Given the description of an element on the screen output the (x, y) to click on. 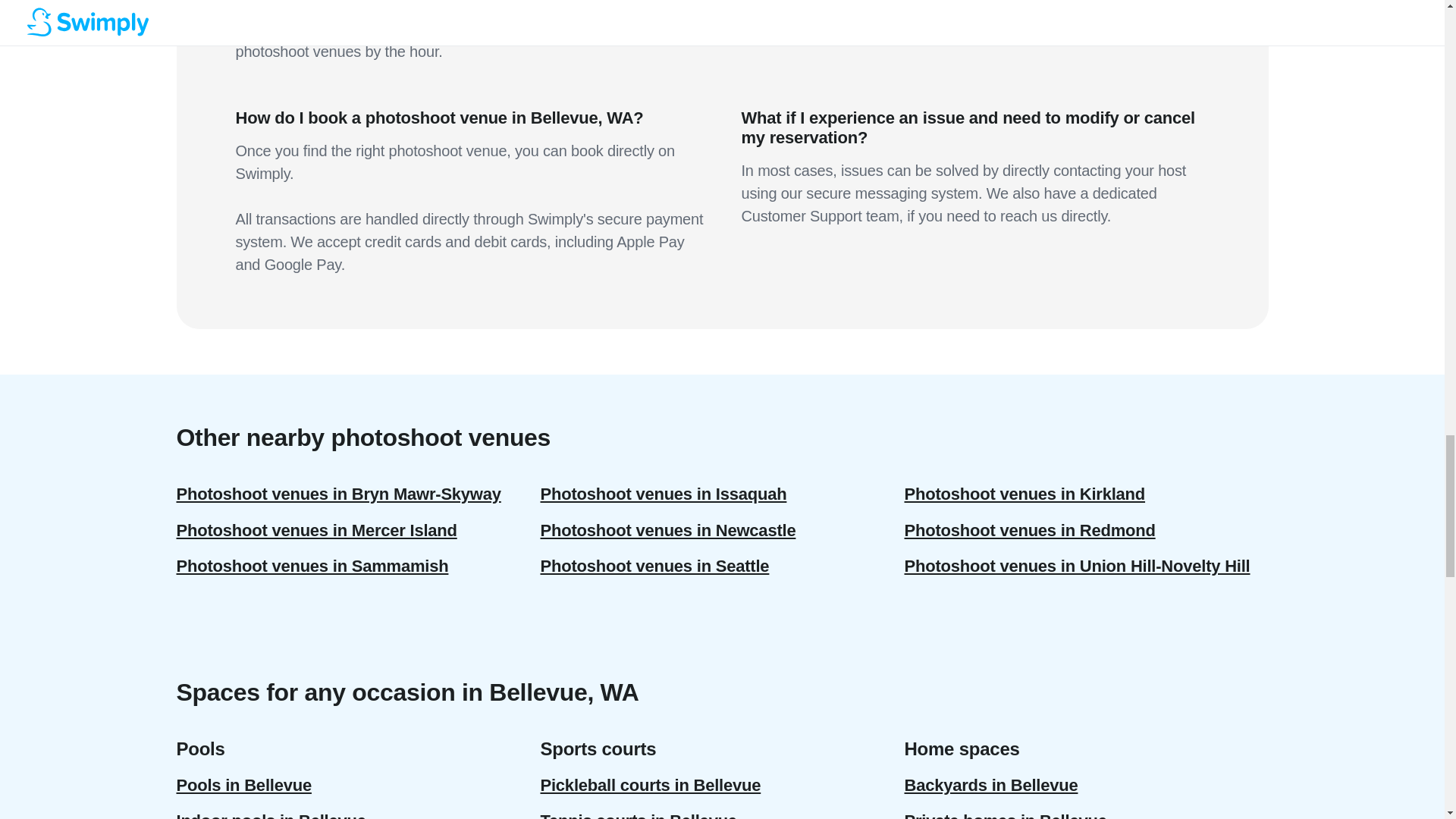
Photoshoot venues in Kirkland (1086, 493)
Photoshoot venues in Bryn Mawr-Skyway (358, 493)
Photoshoot venues in Seattle (722, 565)
Photoshoot venues in Newcastle (722, 529)
Photoshoot venues in Sammamish (358, 565)
Photoshoot venues in Mercer Island (358, 529)
Pools in Bellevue (358, 785)
Indoor pools in Bellevue (358, 811)
Photoshoot venues in Issaquah (722, 493)
Photoshoot venues in Redmond (1086, 529)
Photoshoot venues in Union Hill-Novelty Hill (1086, 565)
